Given the description of an element on the screen output the (x, y) to click on. 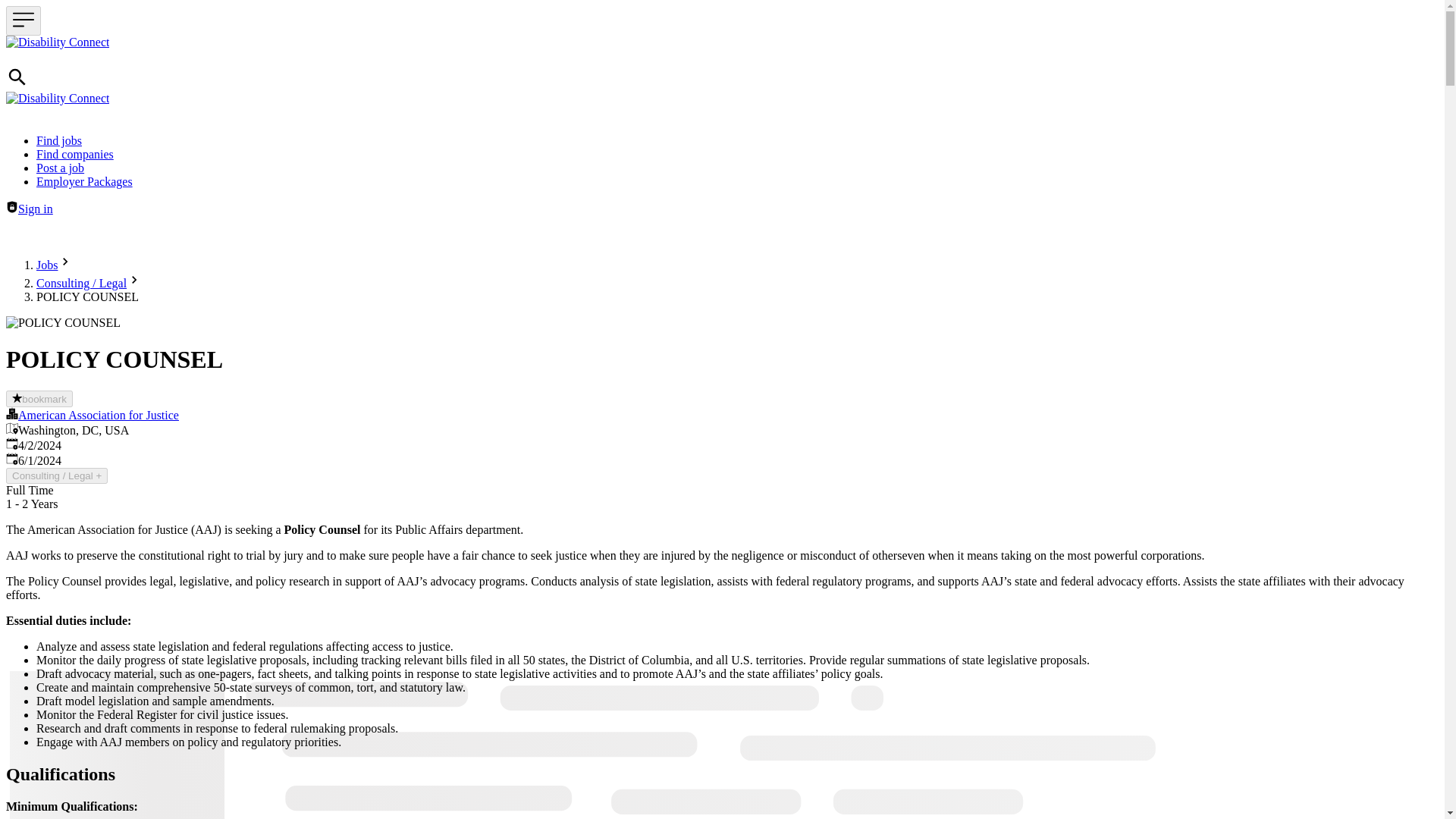
company (11, 413)
Find jobs (58, 140)
location (11, 428)
Search (17, 83)
Sign inSign in (28, 208)
bookmark (38, 398)
Expires (11, 458)
Find companies (74, 154)
Search (17, 77)
Sign in (11, 206)
Menu (22, 20)
Menu (22, 19)
 POLICY COUNSEL (62, 323)
American Association for Justice (98, 414)
Employer Packages (84, 181)
